Given the description of an element on the screen output the (x, y) to click on. 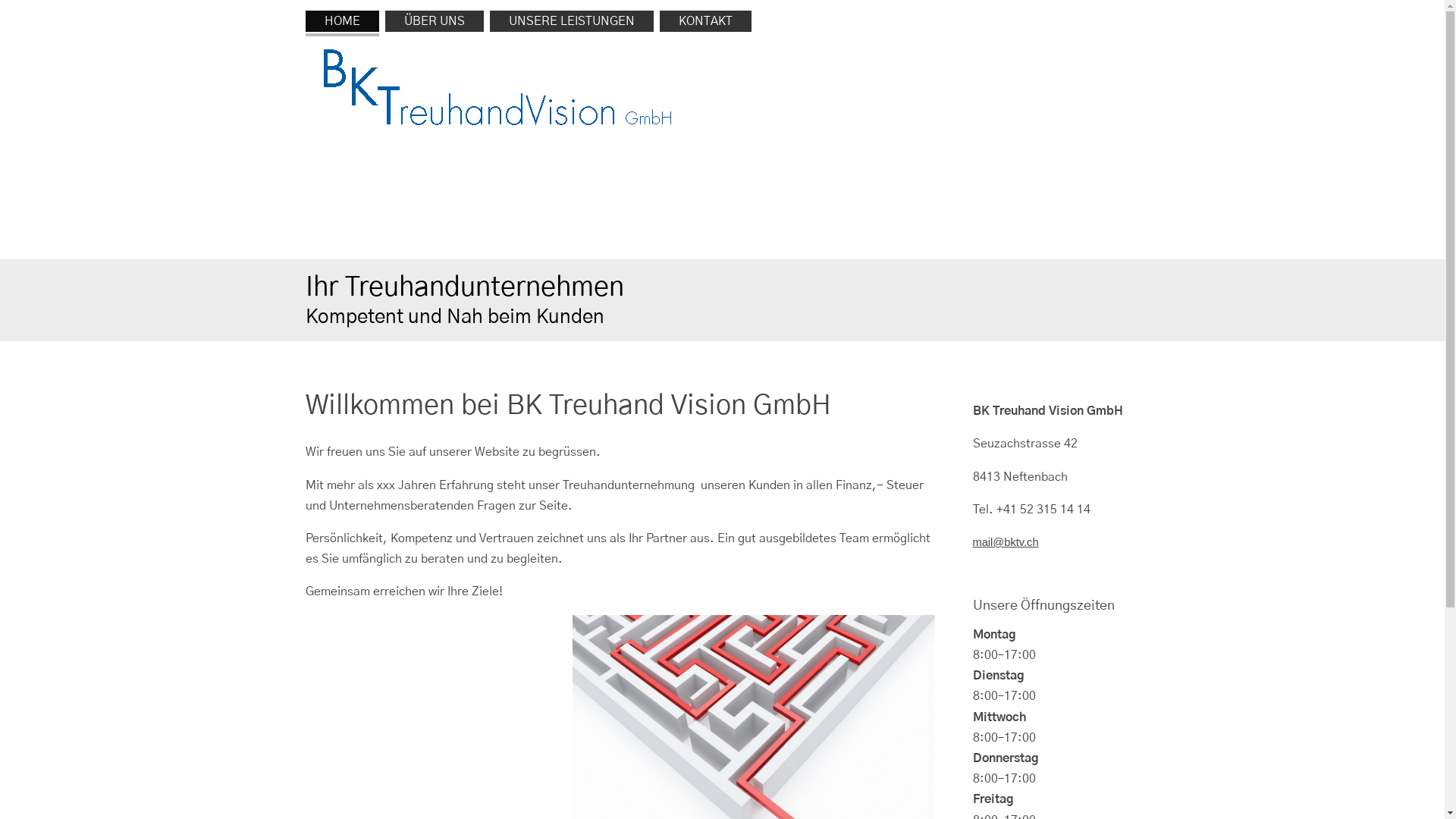
mail@bktv.ch Element type: text (1005, 542)
UNSERE LEISTUNGEN Element type: text (571, 20)
HOME Element type: text (341, 20)
KONTAKT Element type: text (705, 20)
